Given the description of an element on the screen output the (x, y) to click on. 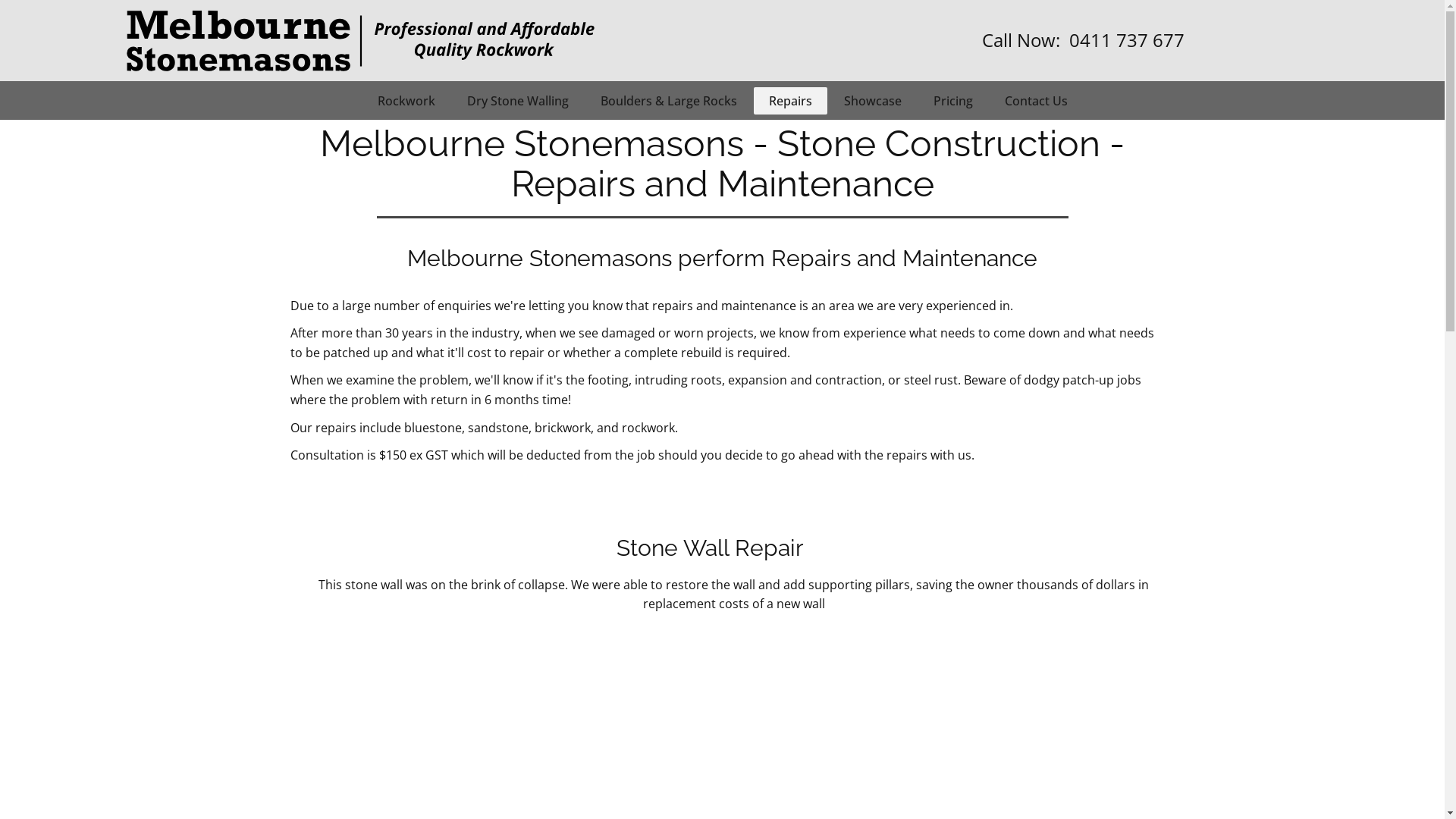
Boulders & Large Rocks Element type: text (668, 99)
Contact Us Element type: text (1035, 99)
Rockwork Element type: text (406, 99)
Showcase Element type: text (872, 99)
Repairs Element type: text (790, 99)
Dry Stone Walling Element type: text (517, 99)
Pricing Element type: text (952, 99)
